Given the description of an element on the screen output the (x, y) to click on. 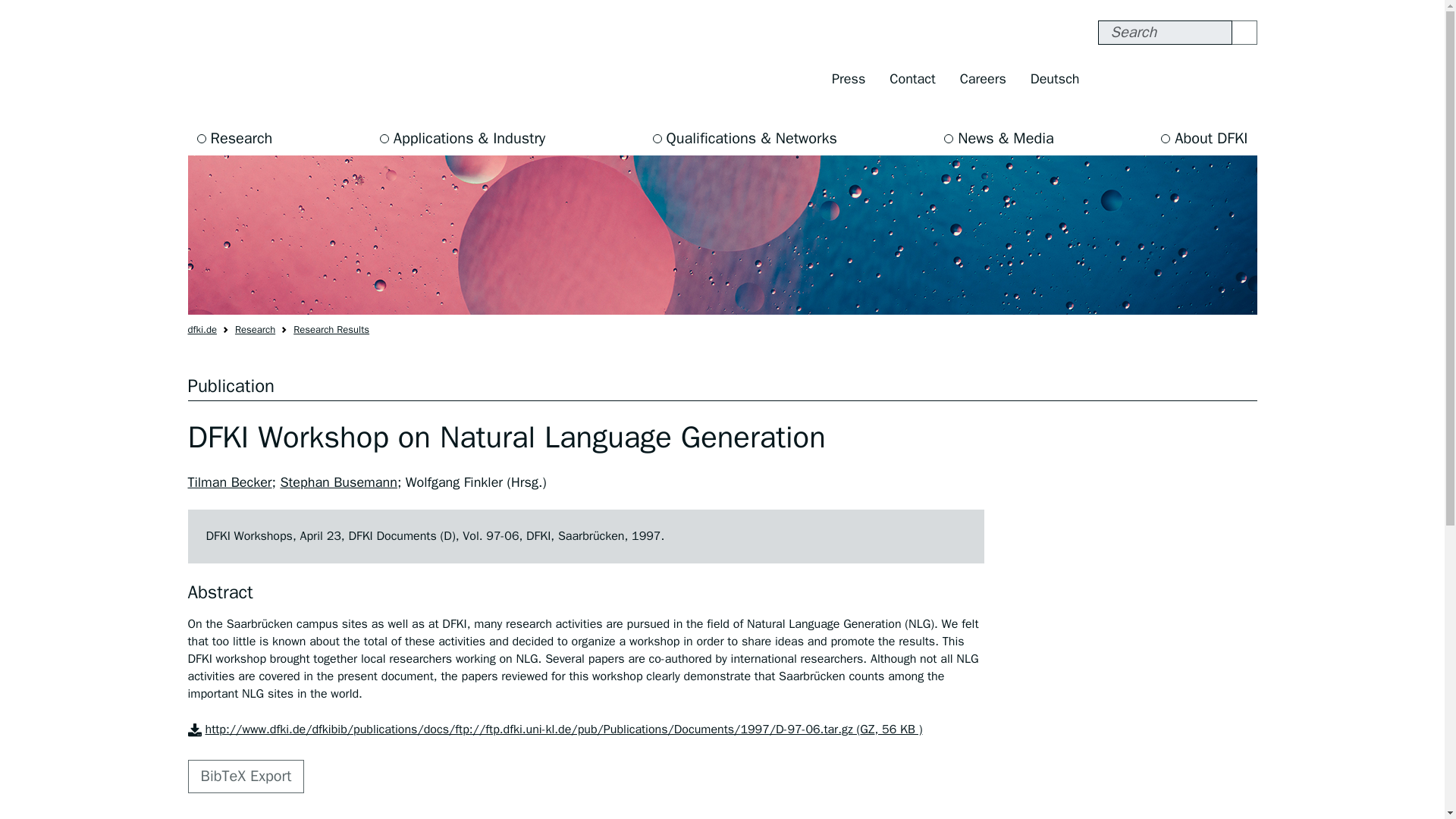
Follow us on: Instagram (1145, 79)
Follow us on: Facebook (1113, 79)
Follow us on: LinkedIn (1240, 79)
Contact (912, 79)
Follow us on: Instagram (1145, 79)
Follow us on: Facebook (1113, 79)
Press (848, 79)
Research Results (331, 328)
Careers (982, 79)
Research (234, 138)
